Given the description of an element on the screen output the (x, y) to click on. 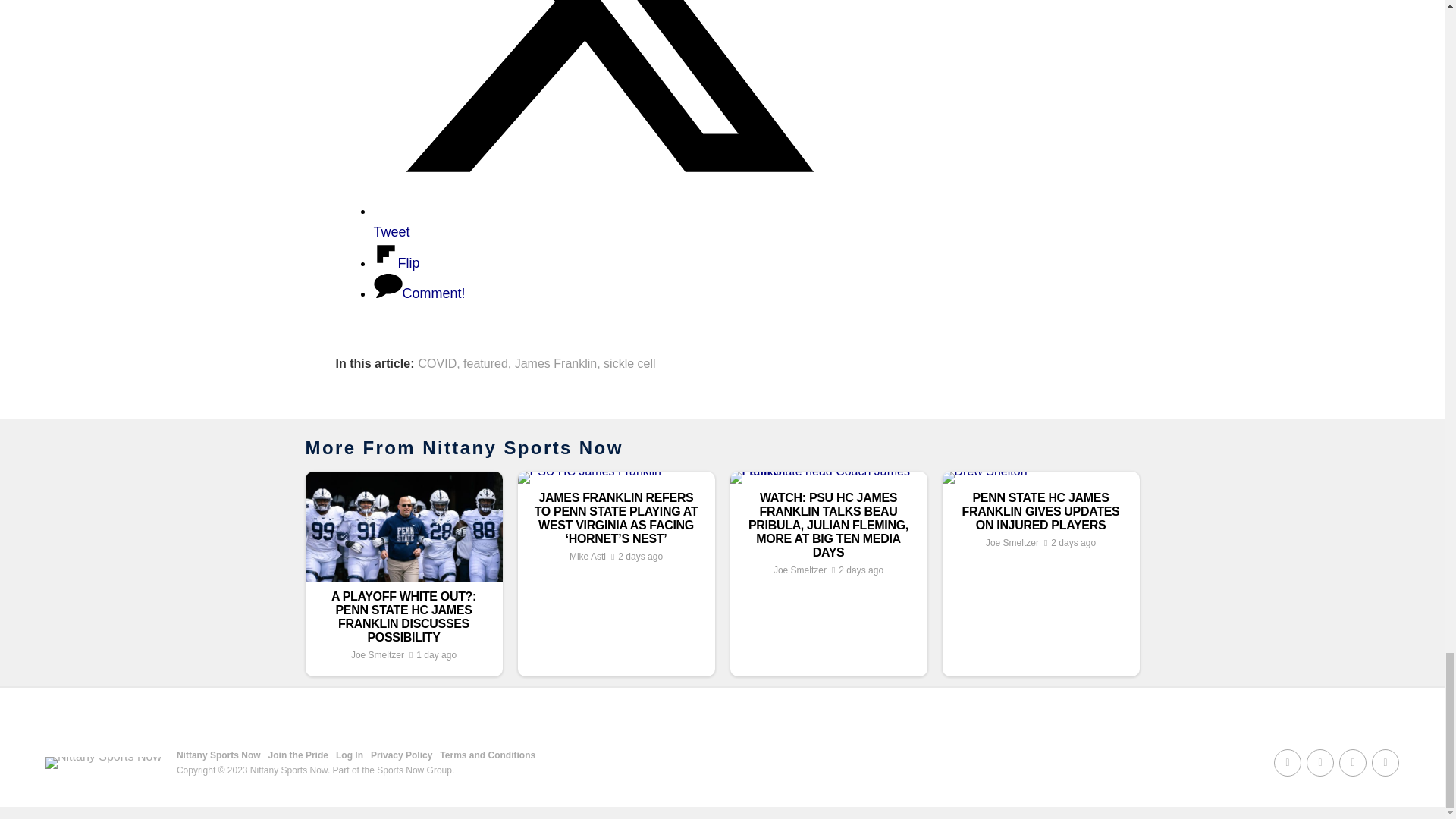
Share on Flip (395, 263)
Share on Comment! (418, 293)
Posts by Joe Smeltzer (1012, 542)
Share on Tweet (603, 221)
Posts by Joe Smeltzer (377, 655)
Posts by Mike Asti (587, 556)
Posts by Joe Smeltzer (800, 570)
